Given the description of an element on the screen output the (x, y) to click on. 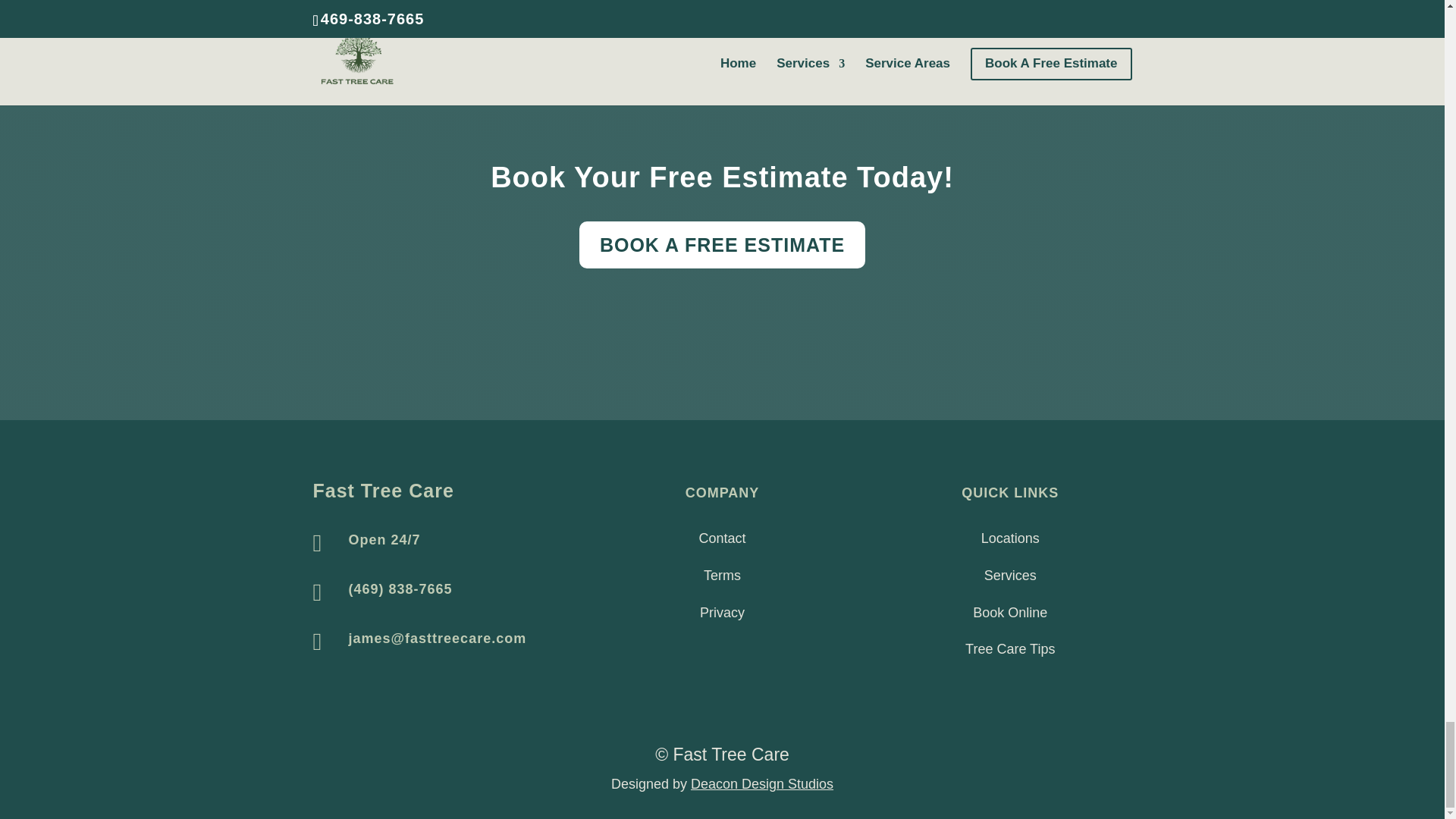
BOOK A FREE ESTIMATE (721, 244)
Contact (721, 538)
Tree Care Tips (1009, 648)
Book Online (1009, 612)
Deacon Design Studios (761, 783)
Privacy (722, 612)
Services (1010, 575)
Terms (722, 575)
Locations (1010, 538)
